Given the description of an element on the screen output the (x, y) to click on. 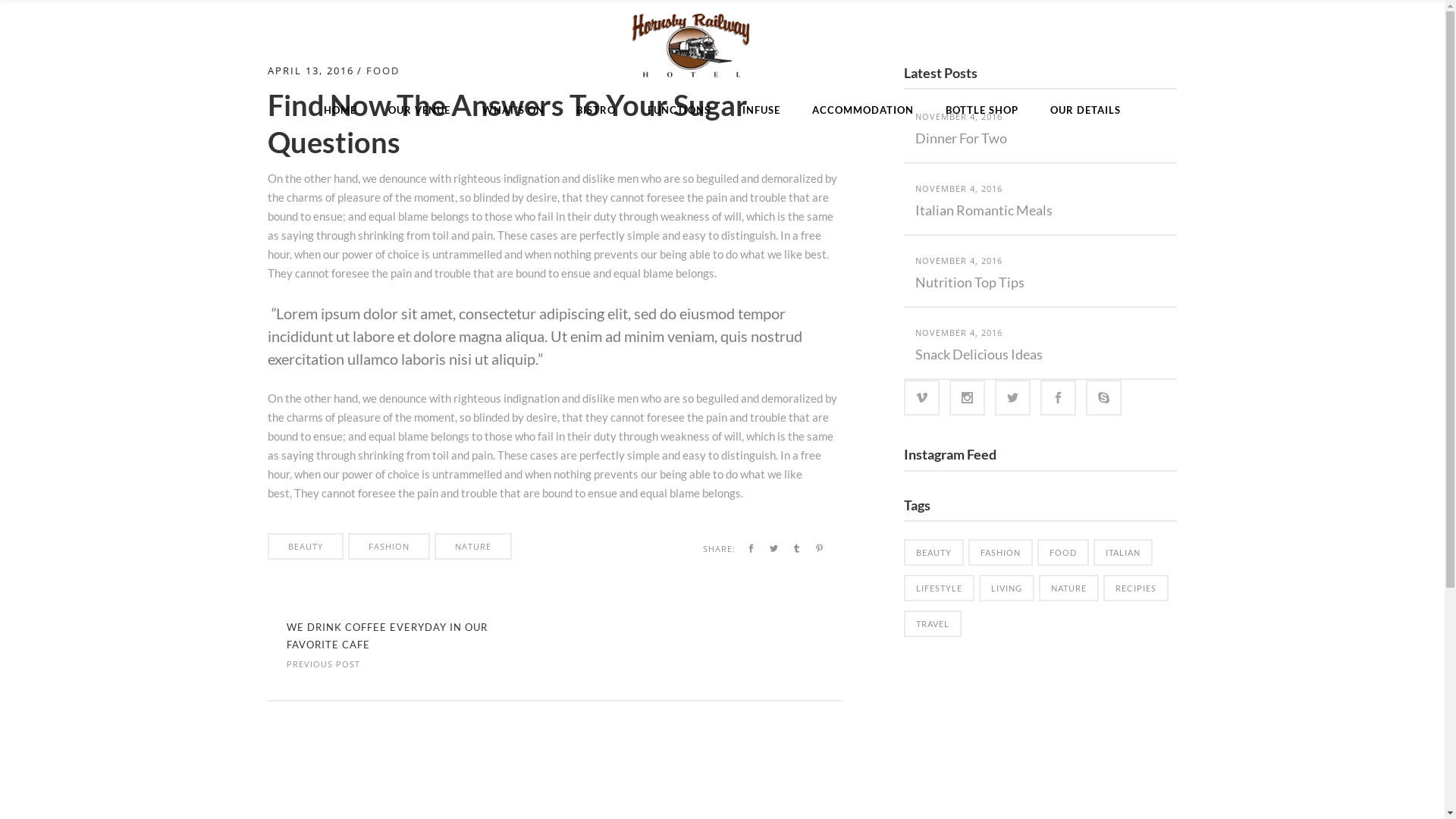
U Element type: text (987, 411)
Nutrition Top Tips Element type: text (969, 281)
FUNCTIONS Element type: text (678, 109)
ACCOMMODATION Element type: text (862, 109)
NATURE Element type: text (472, 546)
OUR VENUE Element type: text (419, 109)
OUR DETAILS Element type: text (1085, 109)
FOOD Element type: text (1062, 552)
INFUSE Element type: text (761, 109)
BISTRO Element type: text (595, 109)
FASHION Element type: text (1000, 552)
BOTTLE SHOP Element type: text (981, 109)
Snack Delicious Ideas Element type: text (978, 353)
LIFESTYLE Element type: text (938, 587)
Italian Romantic Meals Element type: text (983, 209)
BEAUTY Element type: text (304, 546)
HOME Element type: text (339, 109)
TRAVEL Element type: text (932, 623)
BEAUTY Element type: text (933, 552)
WE DRINK COFFEE EVERYDAY IN OUR FAVORITE CAFE Element type: text (386, 635)
ITALIAN Element type: text (1122, 552)
Dinner For Two Element type: text (961, 137)
FOOD Element type: text (381, 70)
FASHION Element type: text (388, 546)
NATURE Element type: text (1068, 587)
RECIPIES Element type: text (1135, 587)
LIVING Element type: text (1006, 587)
PREVIOUS POST Element type: text (323, 662)
